Given the description of an element on the screen output the (x, y) to click on. 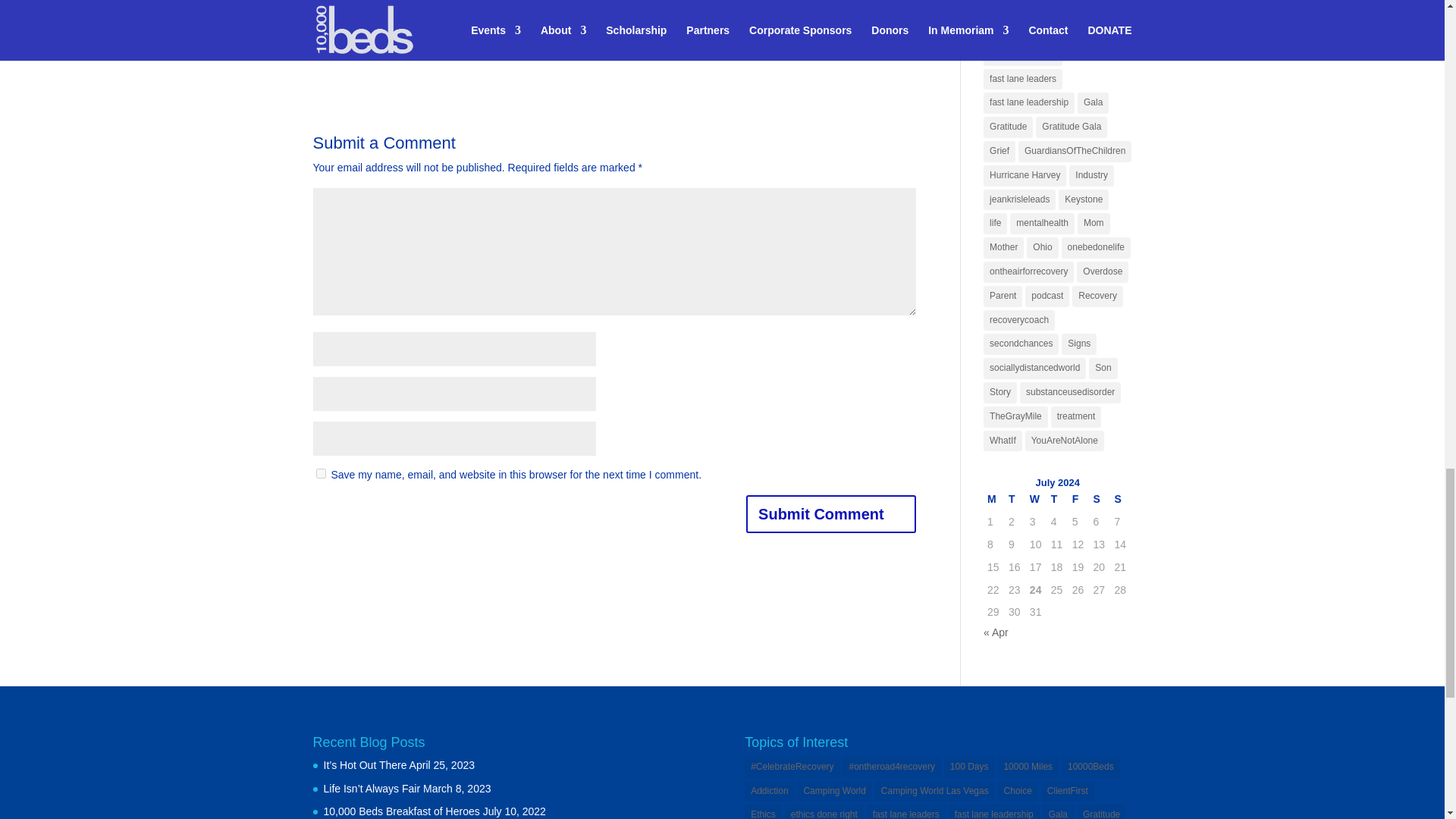
yes (319, 473)
Sunday (1120, 499)
Saturday (1099, 499)
Friday (1078, 499)
Monday (994, 499)
Tuesday (1015, 499)
Wednesday (1036, 499)
Submit Comment (830, 514)
Thursday (1057, 499)
